Given the description of an element on the screen output the (x, y) to click on. 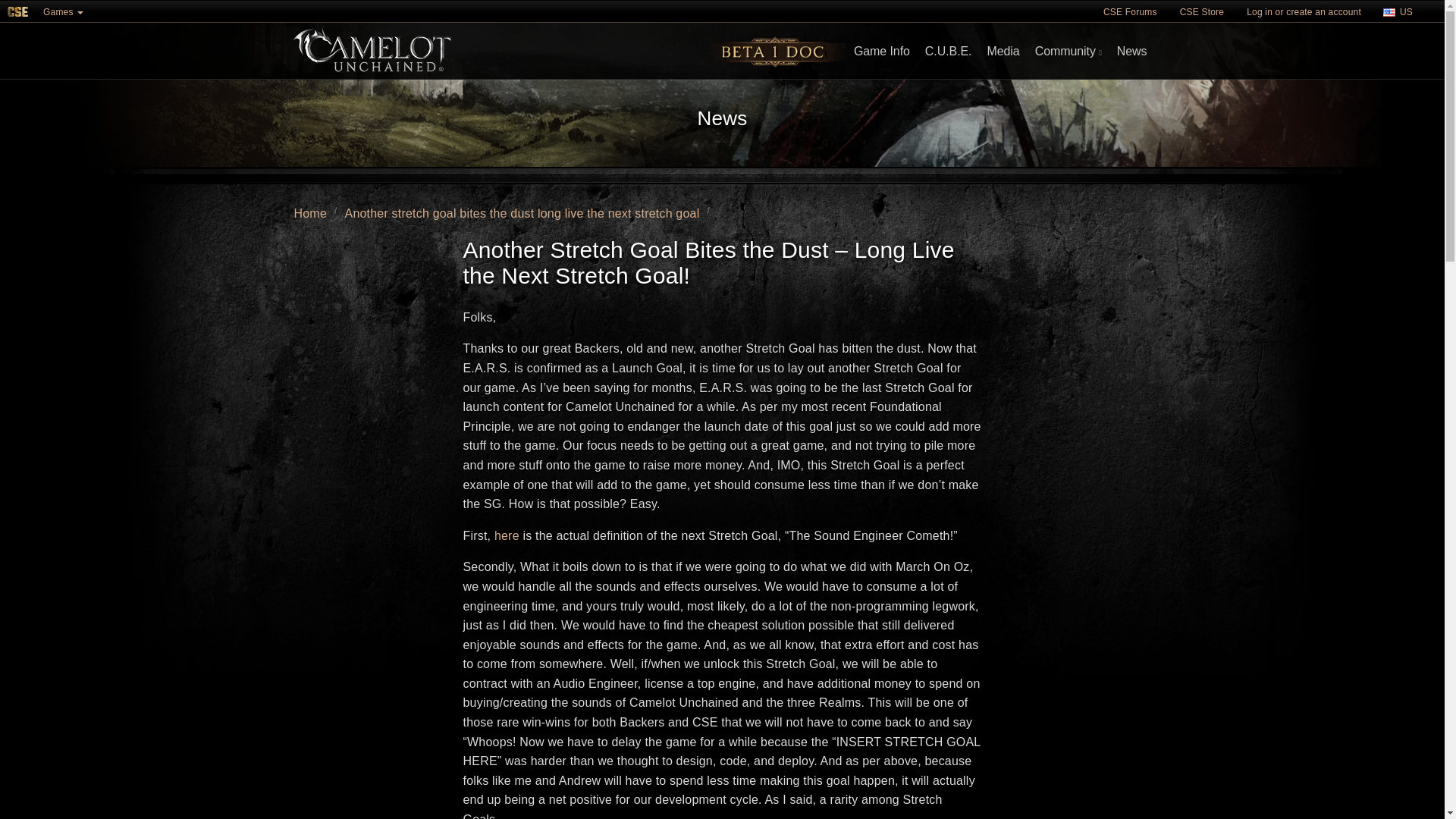
Beta 1 Doc (775, 51)
Game Info (881, 51)
C.U.B.E. (948, 51)
Media (1002, 51)
US (1399, 12)
Games (62, 11)
CSE Forums (1130, 11)
CSE Store (1201, 11)
Community (1068, 51)
Log in or create an account (1303, 11)
